Given the description of an element on the screen output the (x, y) to click on. 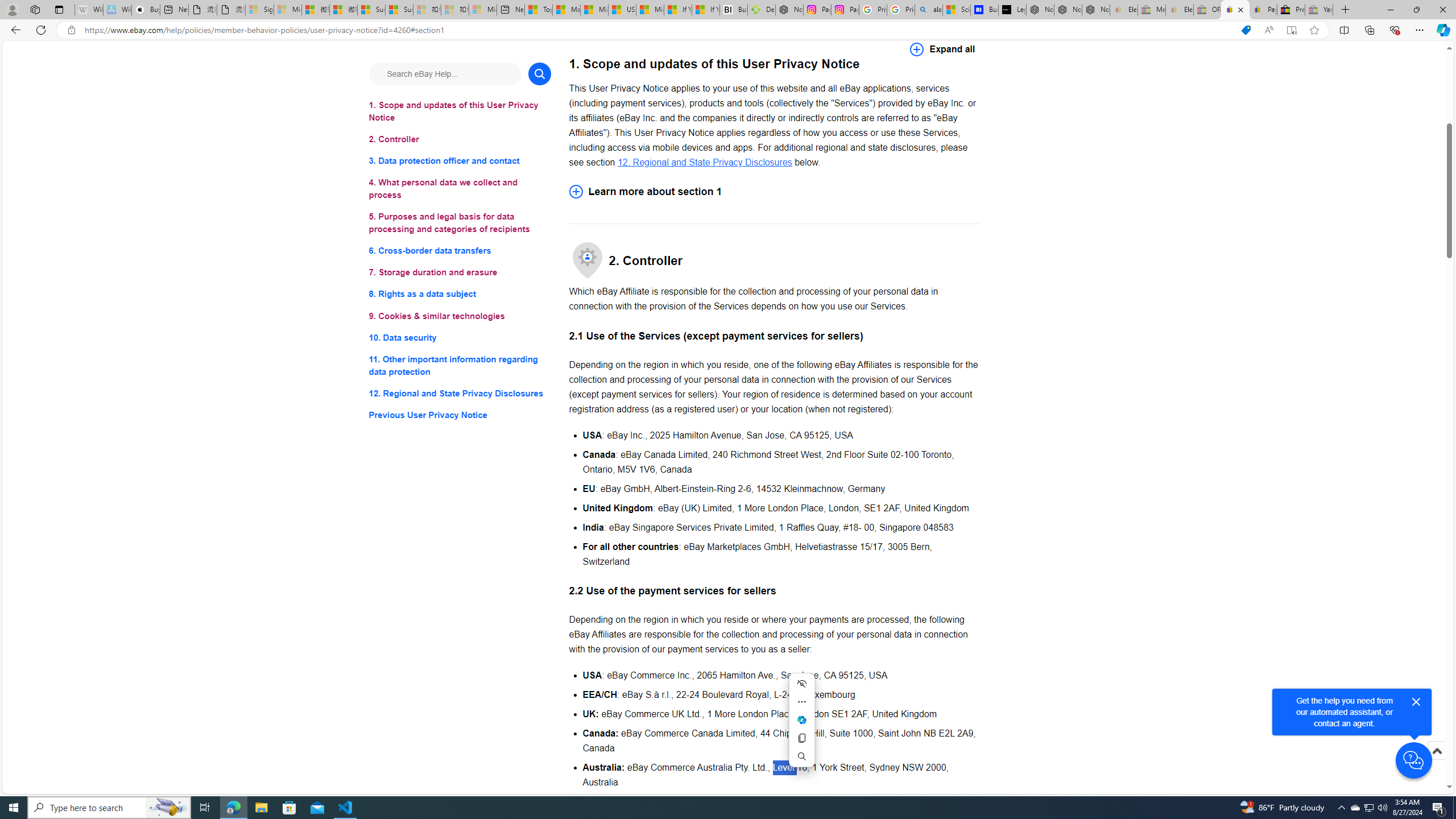
Descarga Driver Updater (761, 9)
Marine life - MSN (566, 9)
Microsoft Services Agreement - Sleeping (288, 9)
Learn more about section 1 (774, 191)
User Privacy Notice | eBay (1235, 9)
6. Cross-border data transfers (459, 250)
